Given the description of an element on the screen output the (x, y) to click on. 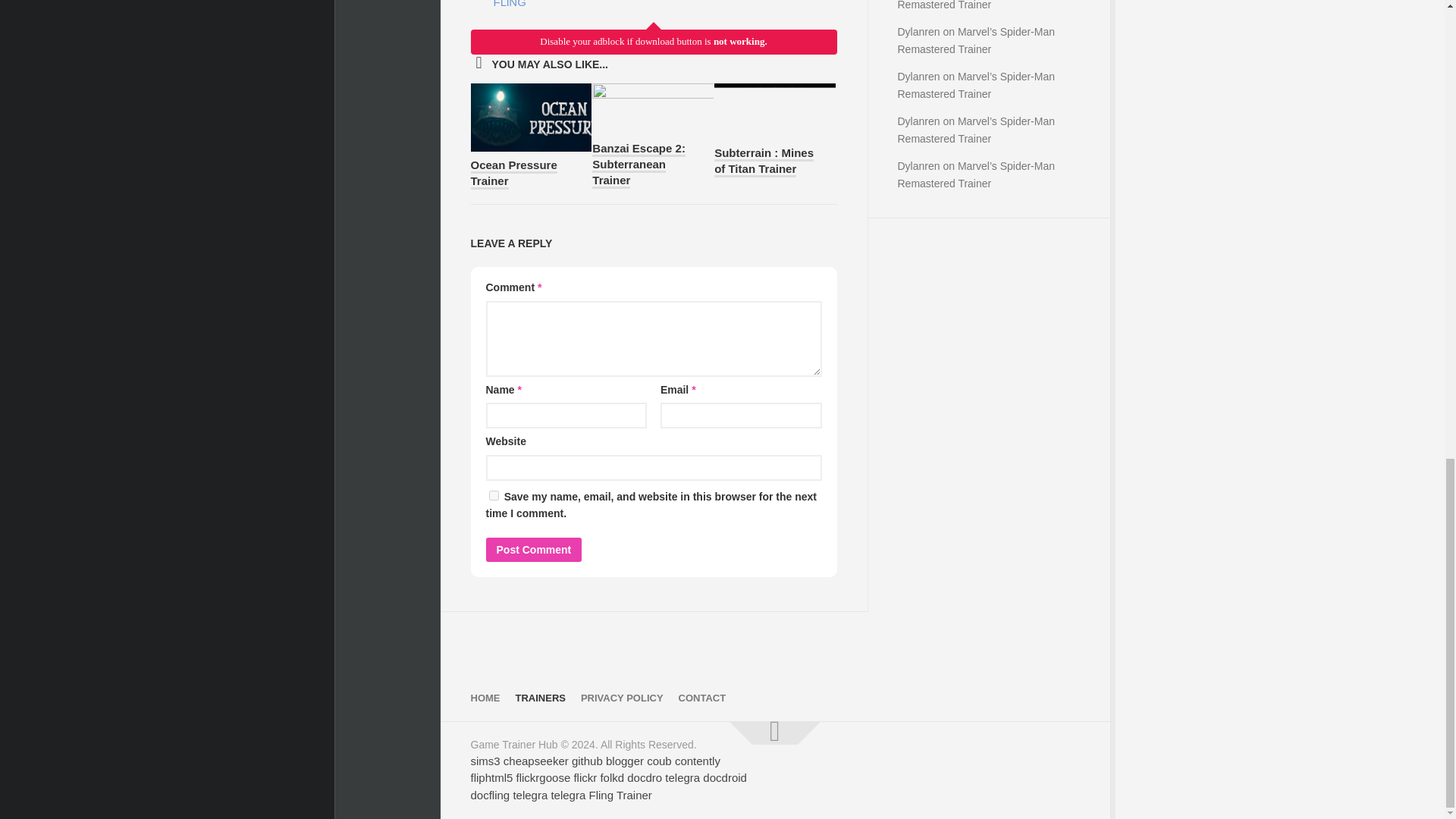
Post Comment (532, 549)
Ocean Pressure Trainer (513, 173)
yes (492, 495)
Subterrain : Mines of Titan Trainer (763, 161)
Post Comment (532, 549)
Quod: Episode 1 Trainer.Full.Access.Plus.12.Trainer-FLiNG (575, 5)
Quod: Episode 1 Trainer.LatestVersion.Plus.Trainer-FLiNG (575, 5)
Banzai Escape 2: Subterranean Trainer (638, 165)
